Given the description of an element on the screen output the (x, y) to click on. 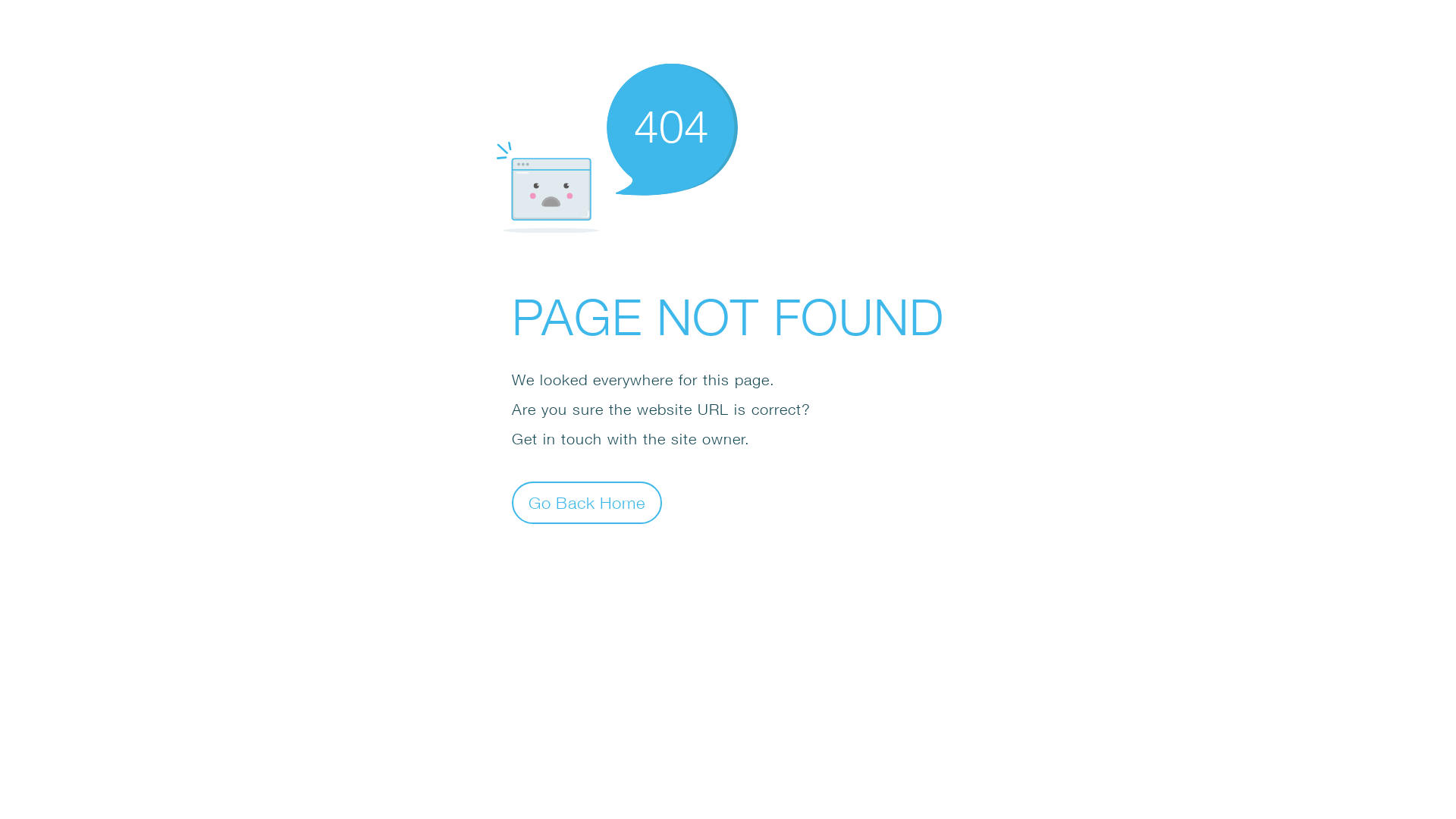
Go Back Home Element type: text (586, 502)
